Given the description of an element on the screen output the (x, y) to click on. 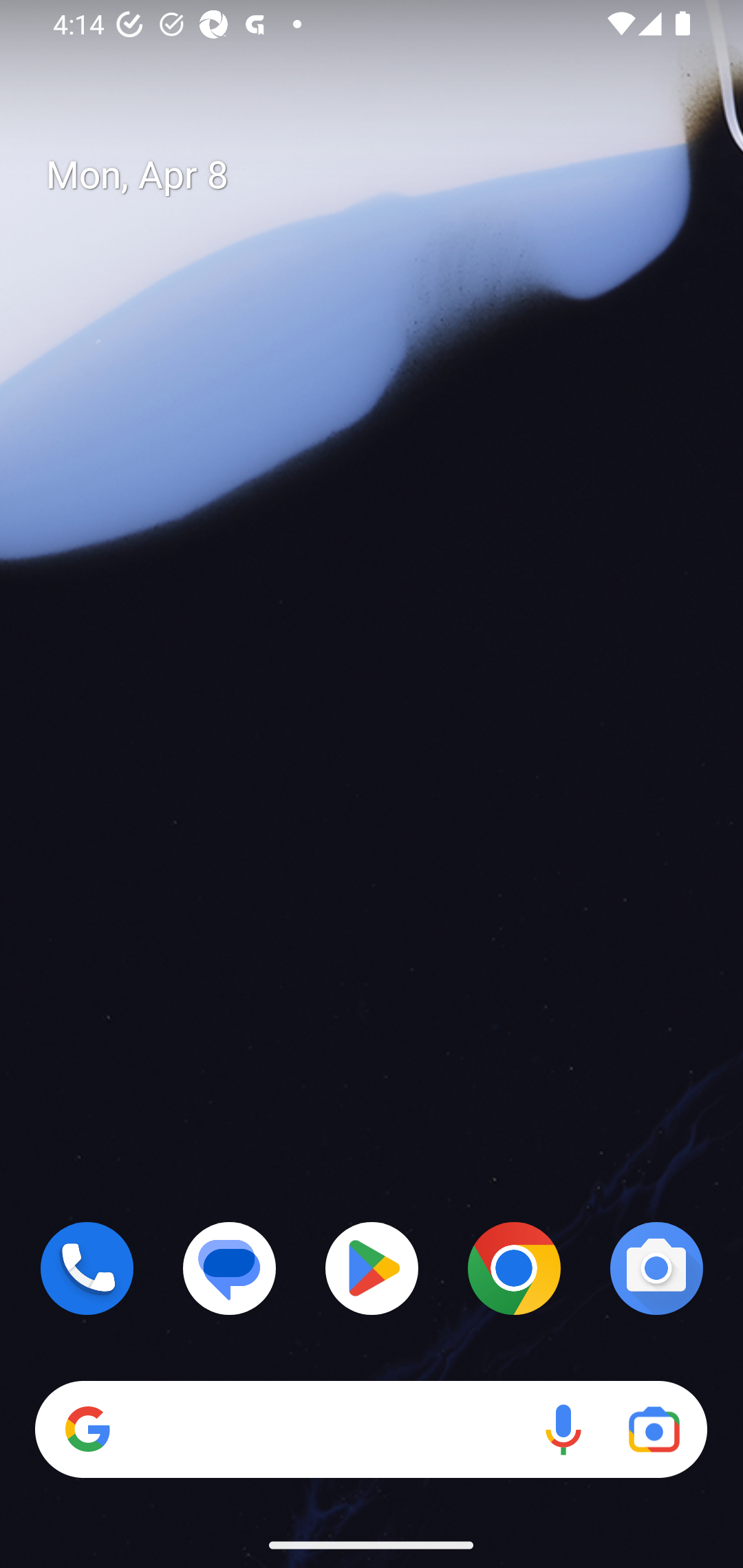
Mon, Apr 8 (386, 175)
Phone (86, 1268)
Messages (229, 1268)
Play Store (371, 1268)
Chrome (513, 1268)
Camera (656, 1268)
Search Voice search Google Lens (370, 1429)
Voice search (562, 1429)
Google Lens (653, 1429)
